Given the description of an element on the screen output the (x, y) to click on. 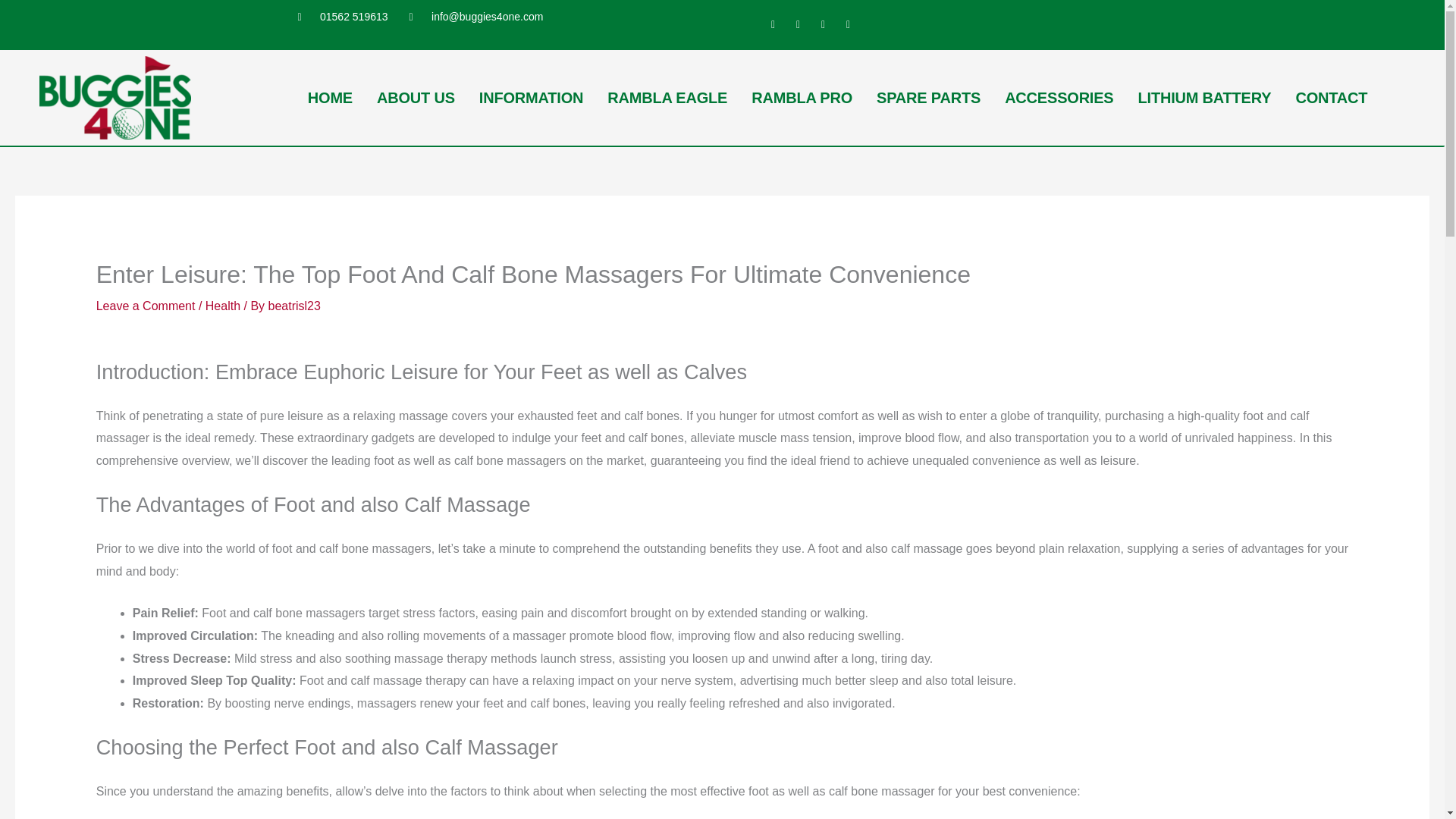
Leave a Comment (145, 305)
CONTACT (1330, 97)
RAMBLA PRO (801, 97)
Health (222, 305)
LITHIUM BATTERY (1204, 97)
SPARE PARTS (928, 97)
RAMBLA EAGLE (667, 97)
HOME (330, 97)
INFORMATION (531, 97)
View all posts by beatrisl23 (293, 305)
